Given the description of an element on the screen output the (x, y) to click on. 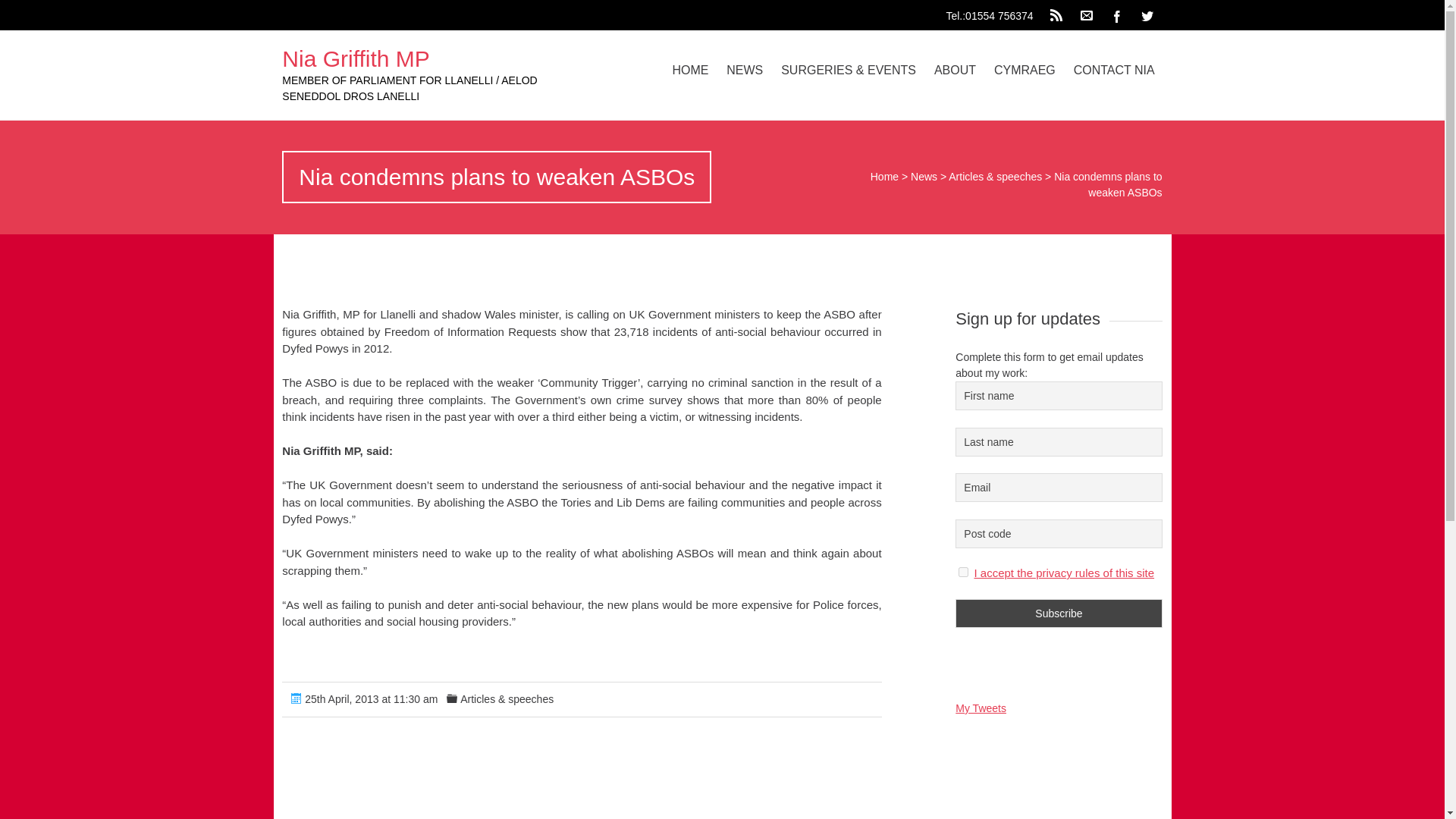
HOME (689, 70)
First name (1058, 395)
Subscribe (1058, 613)
Home (884, 176)
on (963, 572)
Tel.:01554 756374 (992, 12)
ABOUT (955, 70)
Post code (1058, 532)
Email (1058, 487)
Subscribe (1058, 613)
Nia Griffith MP (355, 58)
I accept the privacy rules of this site (1064, 572)
Last name (1058, 441)
Facebook (1117, 15)
Twitter (1146, 15)
